Given the description of an element on the screen output the (x, y) to click on. 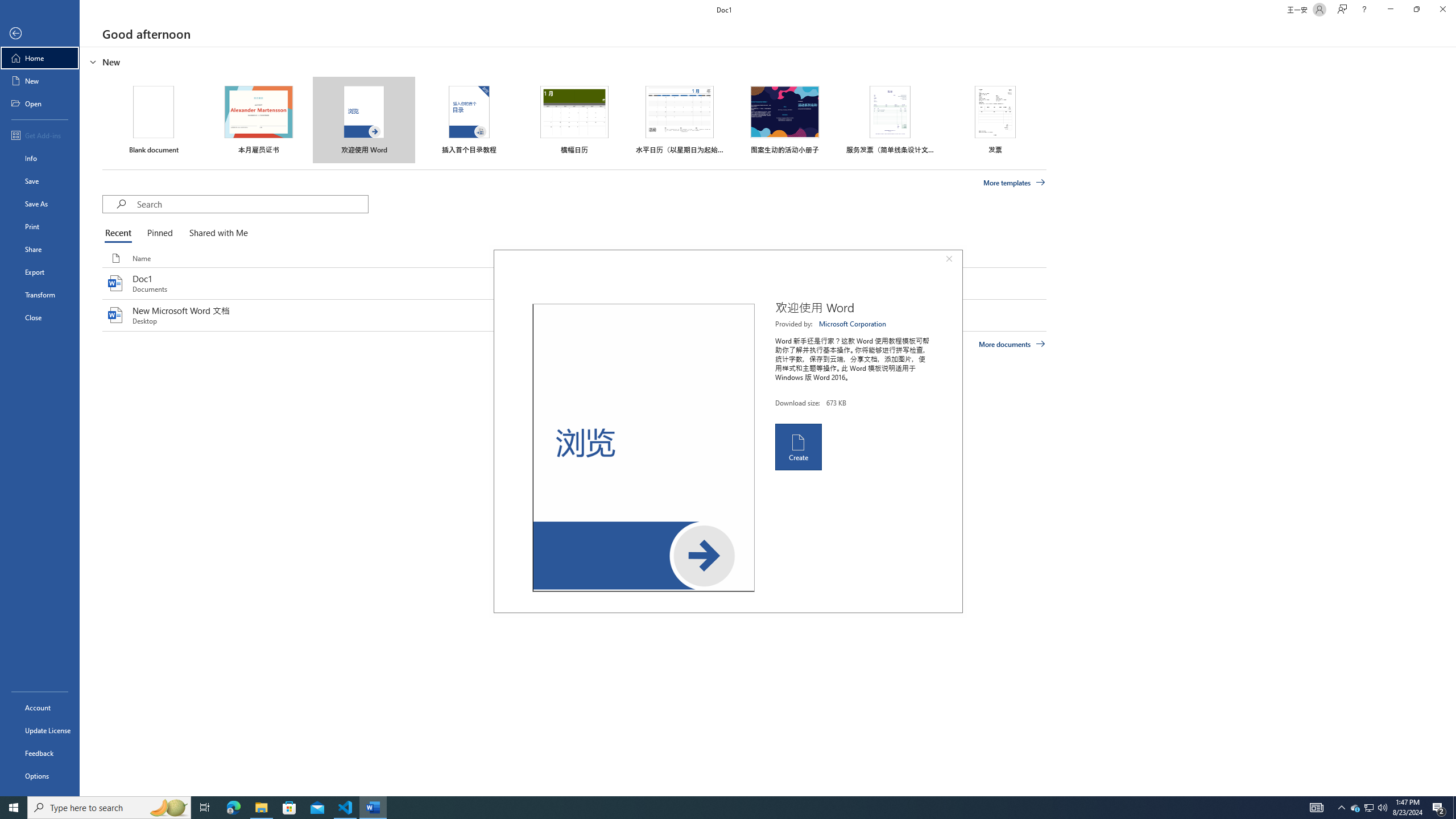
Create (797, 446)
Transform (40, 294)
Blank document (153, 119)
